Given the description of an element on the screen output the (x, y) to click on. 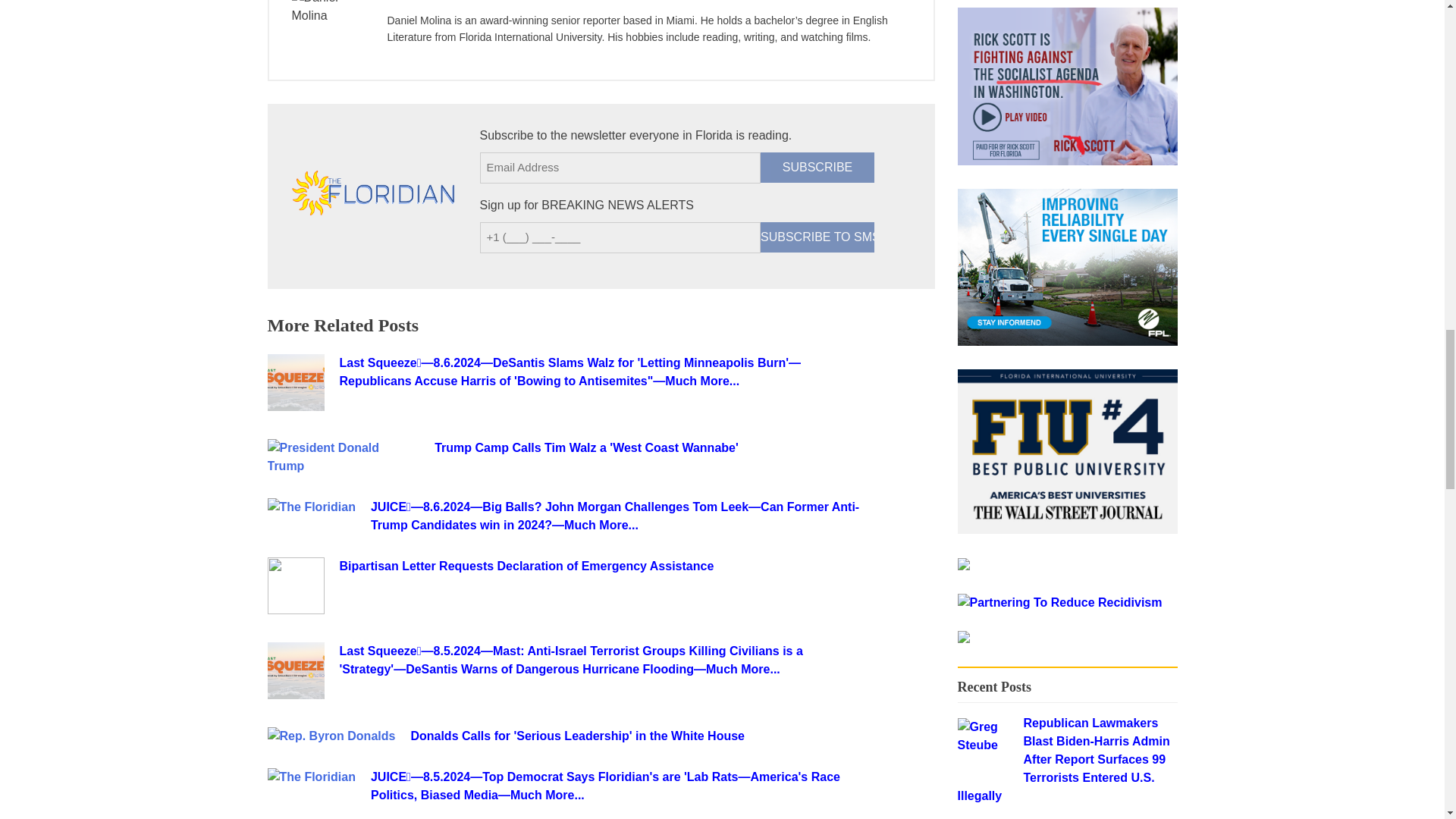
SUBSCRIBE TO SMS (817, 236)
Partnering To Reduce Recidivism (1058, 602)
Partnering To Reduce Recidivism (1058, 602)
SUBSCRIBE (817, 167)
Partnering To Reduce Recidivism (962, 638)
SUBSCRIBE (817, 167)
SUBSCRIBE TO SMS (817, 236)
